Given the description of an element on the screen output the (x, y) to click on. 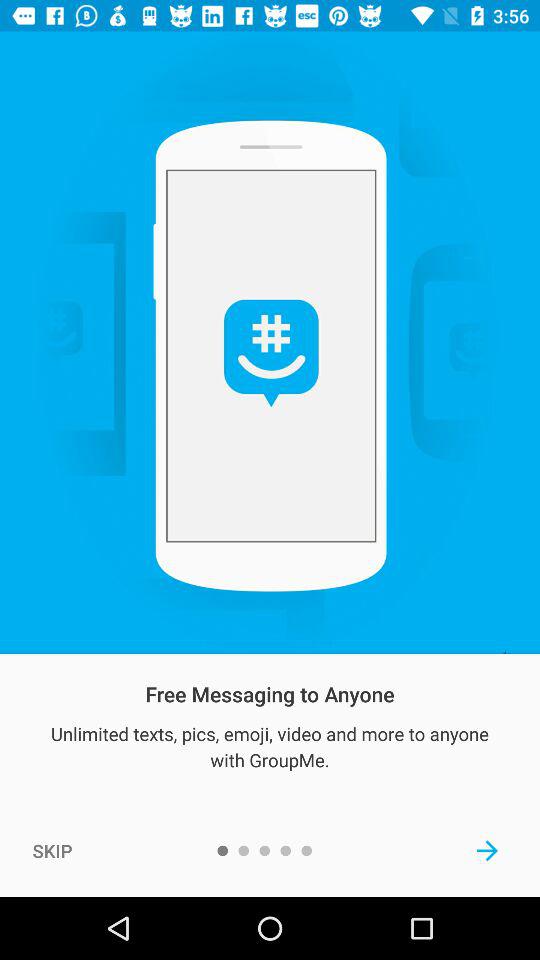
select skip item (52, 850)
